Given the description of an element on the screen output the (x, y) to click on. 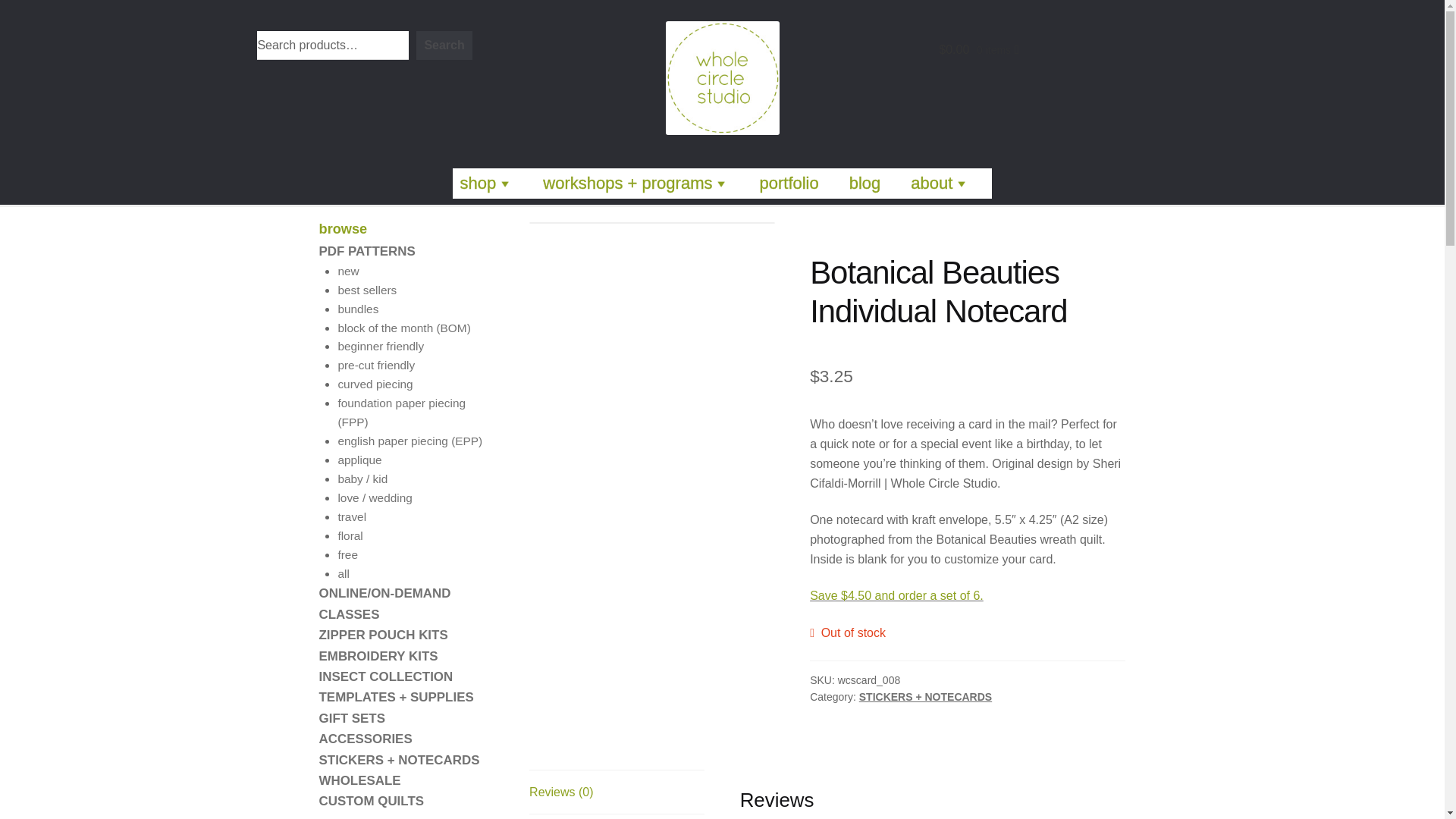
portfolio (788, 183)
Search (443, 45)
shop (486, 183)
blog (864, 183)
about (939, 183)
View your shopping cart (979, 49)
